Given the description of an element on the screen output the (x, y) to click on. 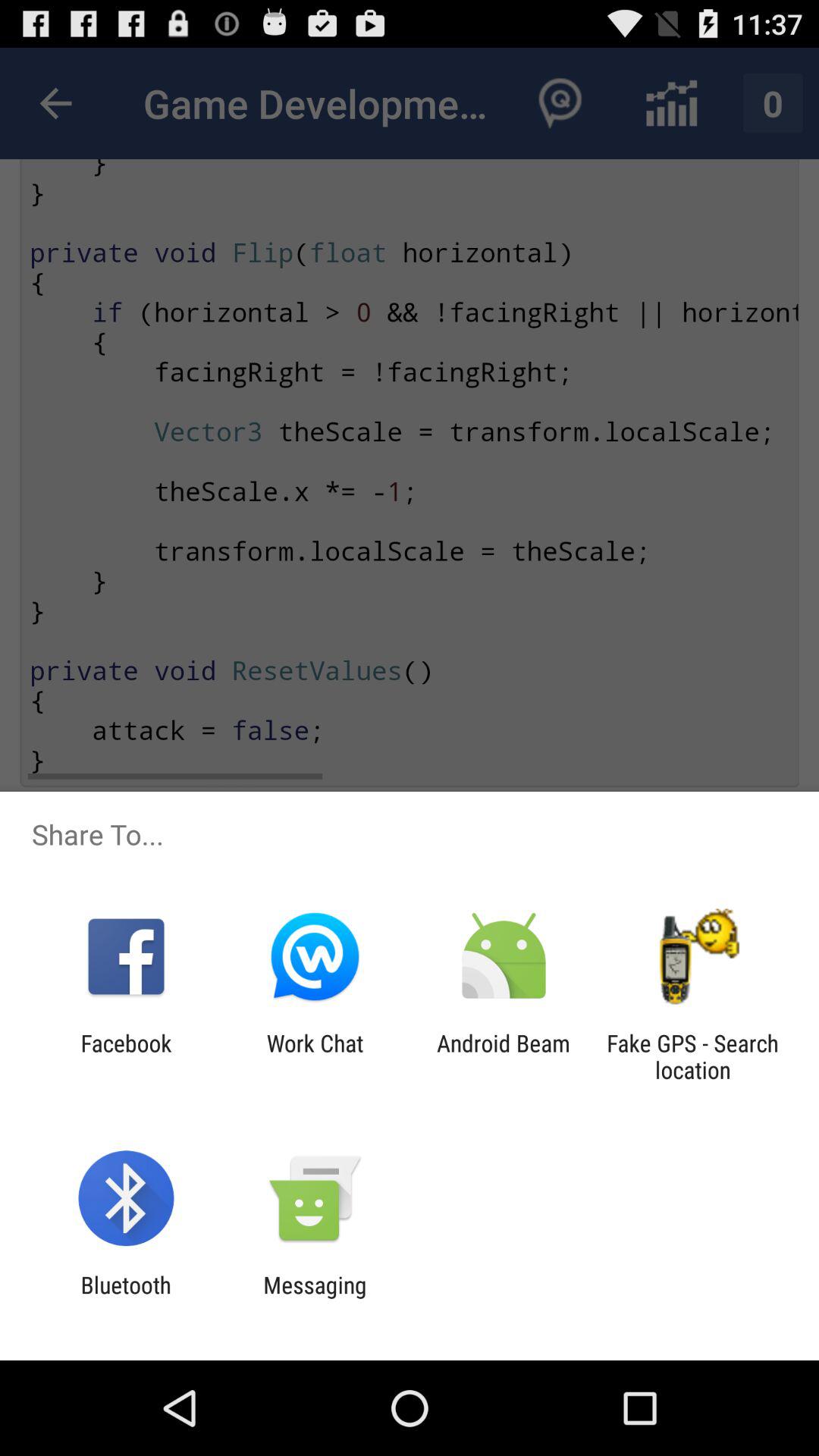
press item next to the facebook app (314, 1056)
